Given the description of an element on the screen output the (x, y) to click on. 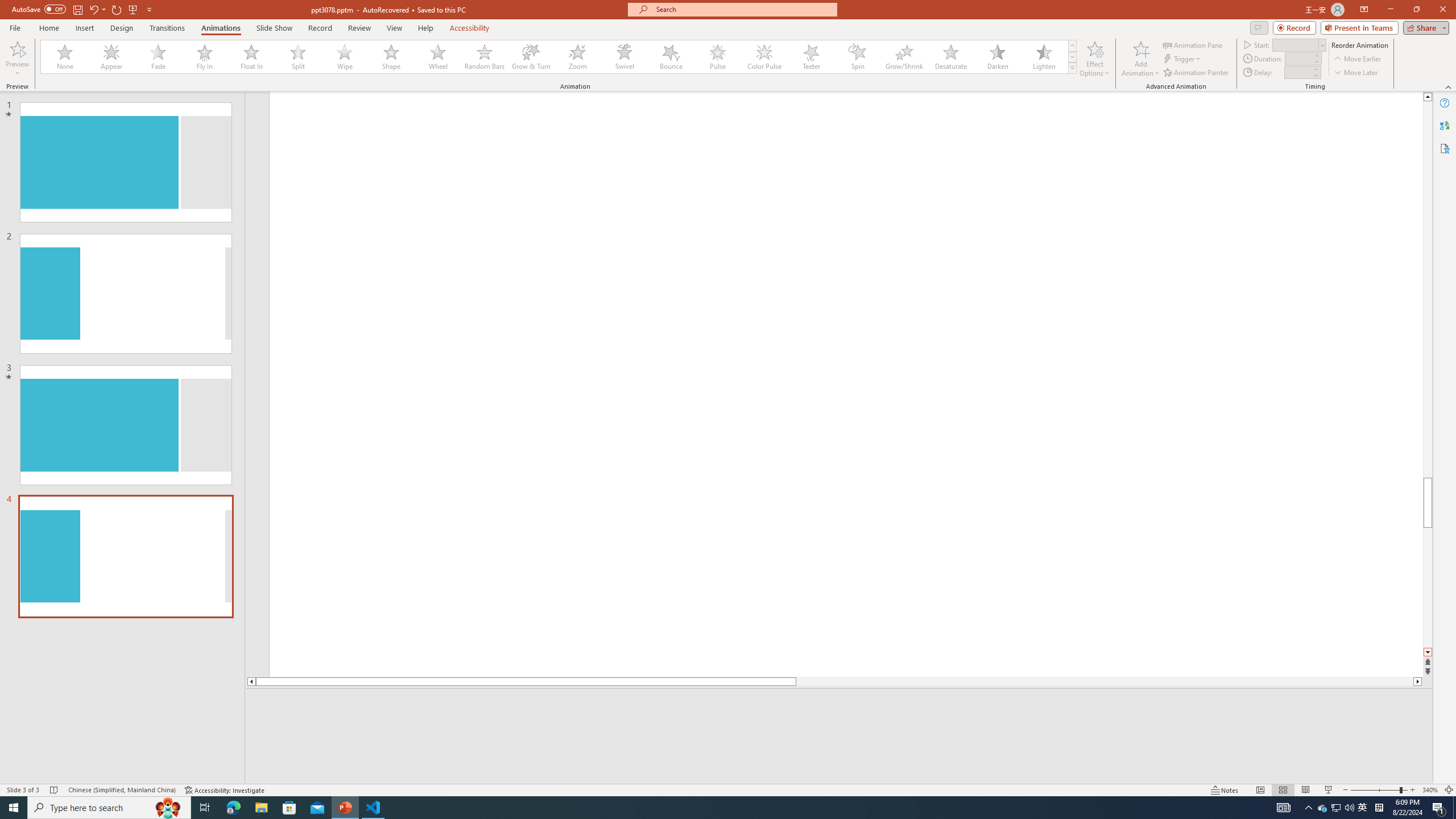
Swivel (624, 56)
Trigger (1182, 58)
Less (1315, 75)
Teeter (810, 56)
Add Animation (1141, 58)
